Given the description of an element on the screen output the (x, y) to click on. 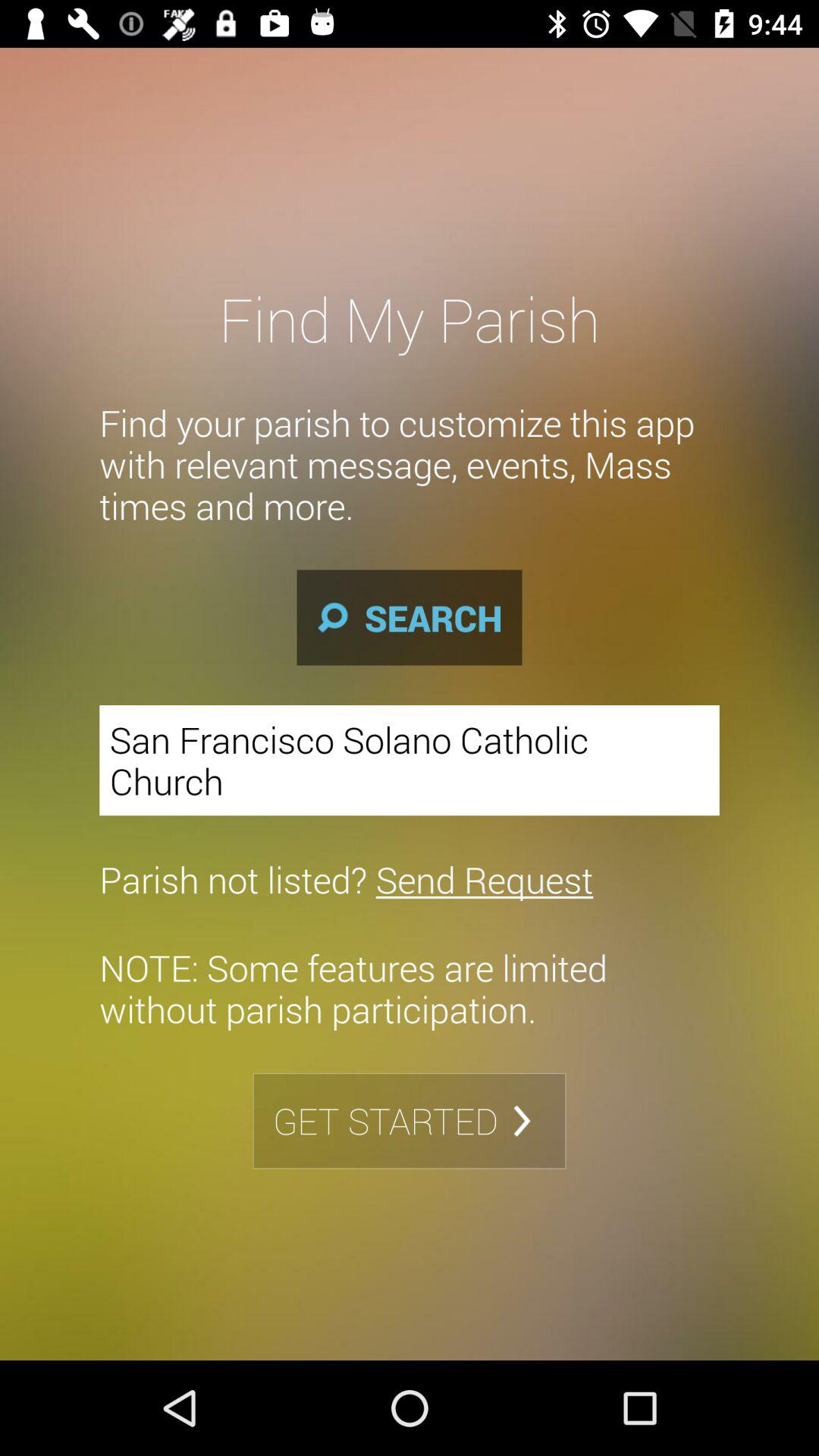
click the icon above parish not listed (409, 760)
